Given the description of an element on the screen output the (x, y) to click on. 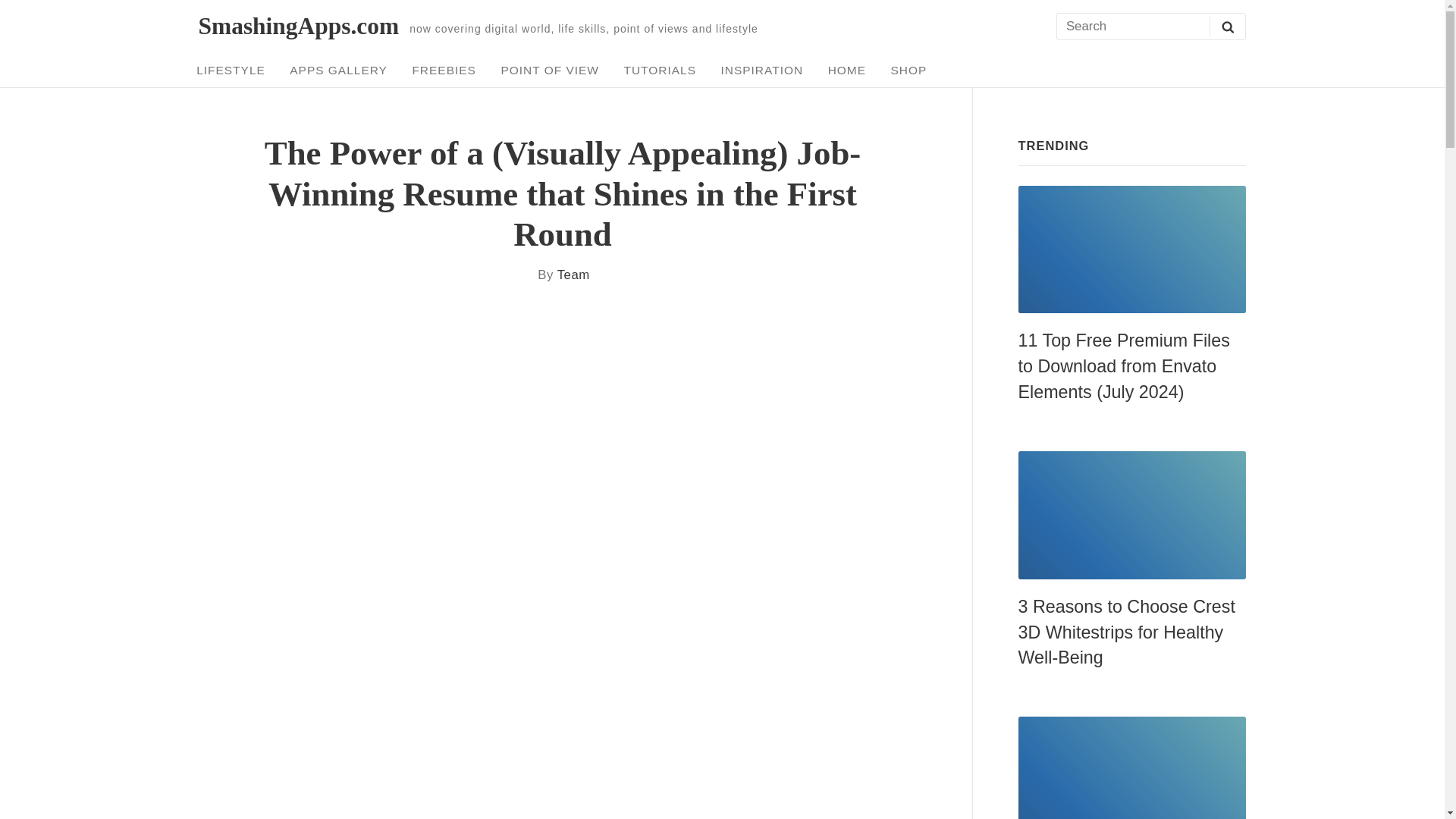
HOME (846, 69)
SmashingApps.com (298, 25)
LIFESTYLE (231, 69)
POINT OF VIEW (550, 69)
Search for: (1149, 26)
SHOP (908, 69)
READ FULL POST (1130, 515)
INSPIRATION (761, 69)
FREEBIES (443, 69)
SEARCH (1226, 25)
READ FULL POST (1130, 249)
TUTORIALS (659, 69)
Team (573, 274)
APPS GALLERY (338, 69)
